Given the description of an element on the screen output the (x, y) to click on. 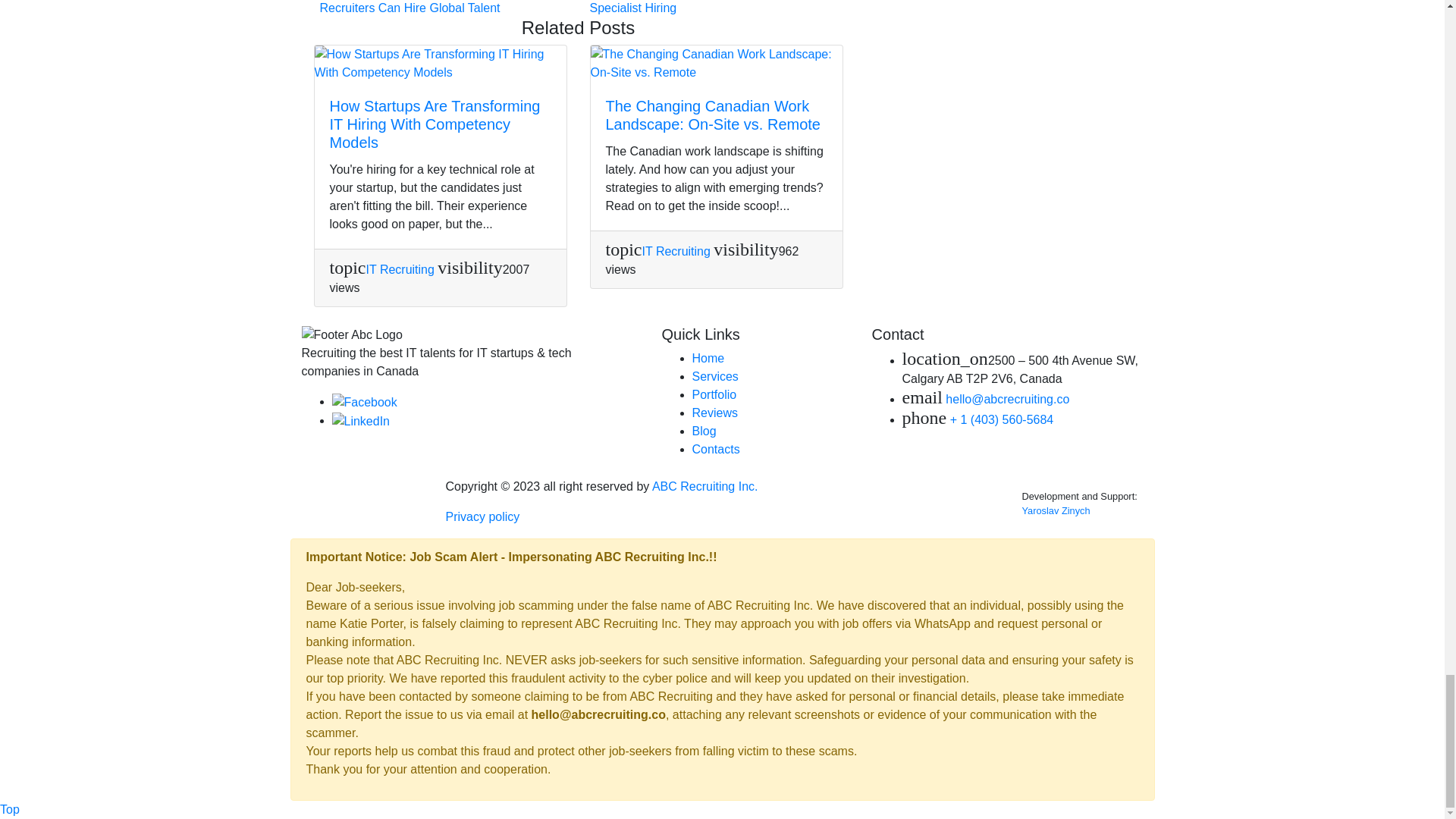
The Changing Canadian Work Landscape: On-Site vs. Remote (712, 114)
IT Recruiting (676, 250)
Offshoring Service: How Recruiters Can Hire Global Talent (436, 7)
IT Recruiting (399, 269)
